Given the description of an element on the screen output the (x, y) to click on. 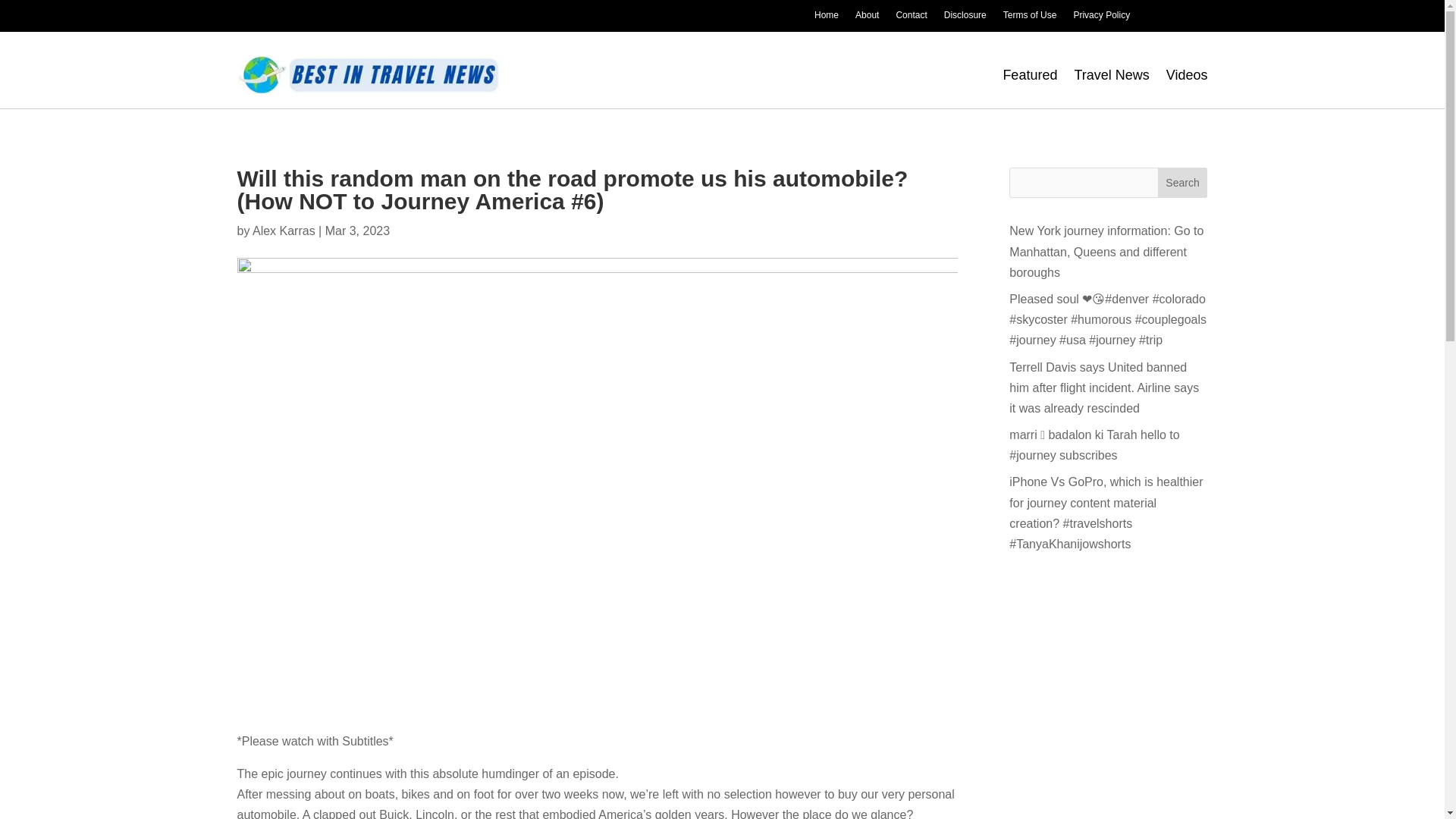
Posts by Alex Karras (283, 230)
Disclosure (965, 17)
Terms of Use (1030, 17)
Home (825, 17)
Alex Karras (283, 230)
Contact (910, 17)
Featured (1030, 74)
Privacy Policy (1101, 17)
About (867, 17)
Search (1182, 182)
Travel News (1111, 74)
